Given the description of an element on the screen output the (x, y) to click on. 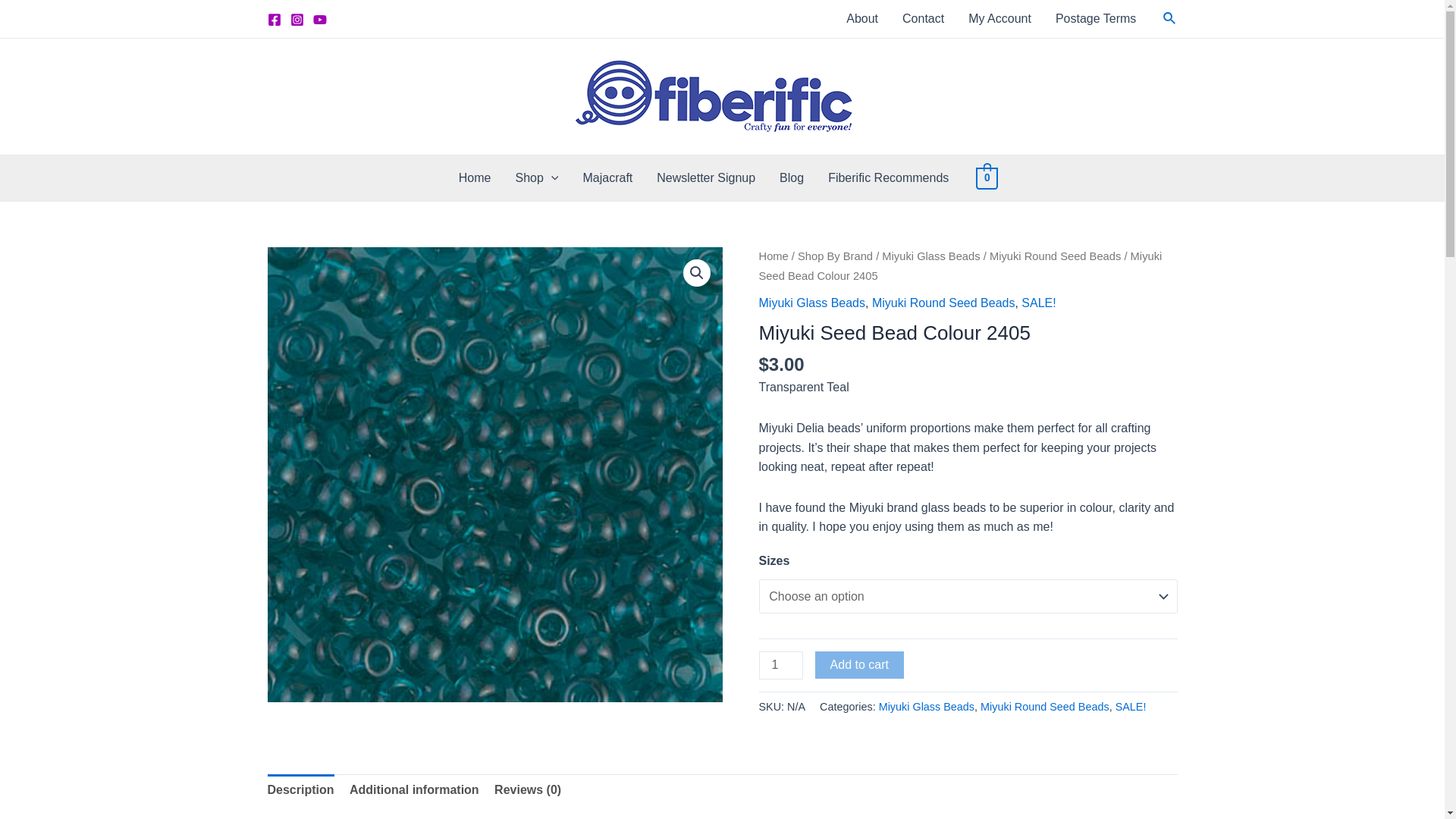
Home Element type: text (772, 256)
Miyuki Glass Beads Element type: text (930, 256)
Postage Terms Element type: text (1095, 18)
0 Element type: text (986, 177)
Shop Element type: text (537, 177)
SALE! Element type: text (1130, 706)
Blog Element type: text (791, 177)
SALE! Element type: text (1038, 302)
Shop By Brand Element type: text (834, 256)
Description Element type: text (299, 790)
Search Element type: text (1169, 18)
Newsletter Signup Element type: text (705, 177)
Home Element type: text (474, 177)
Contact Element type: text (923, 18)
Fiberific Recommends Element type: text (887, 177)
Reviews (0) Element type: text (527, 790)
Majacraft Element type: text (607, 177)
Miyuki Round Seed Beads Element type: text (1044, 706)
My Account Element type: text (999, 18)
Miyuki Glass Beads Element type: text (811, 302)
Miyuki Glass Beads Element type: text (926, 706)
Miyuki Round Seed Beads Element type: text (943, 302)
Add to cart Element type: text (859, 664)
Miyuki Round Seed Beads Element type: text (1054, 256)
6-2405 Element type: hover (493, 474)
About Element type: text (862, 18)
Additional information Element type: text (414, 790)
